Given the description of an element on the screen output the (x, y) to click on. 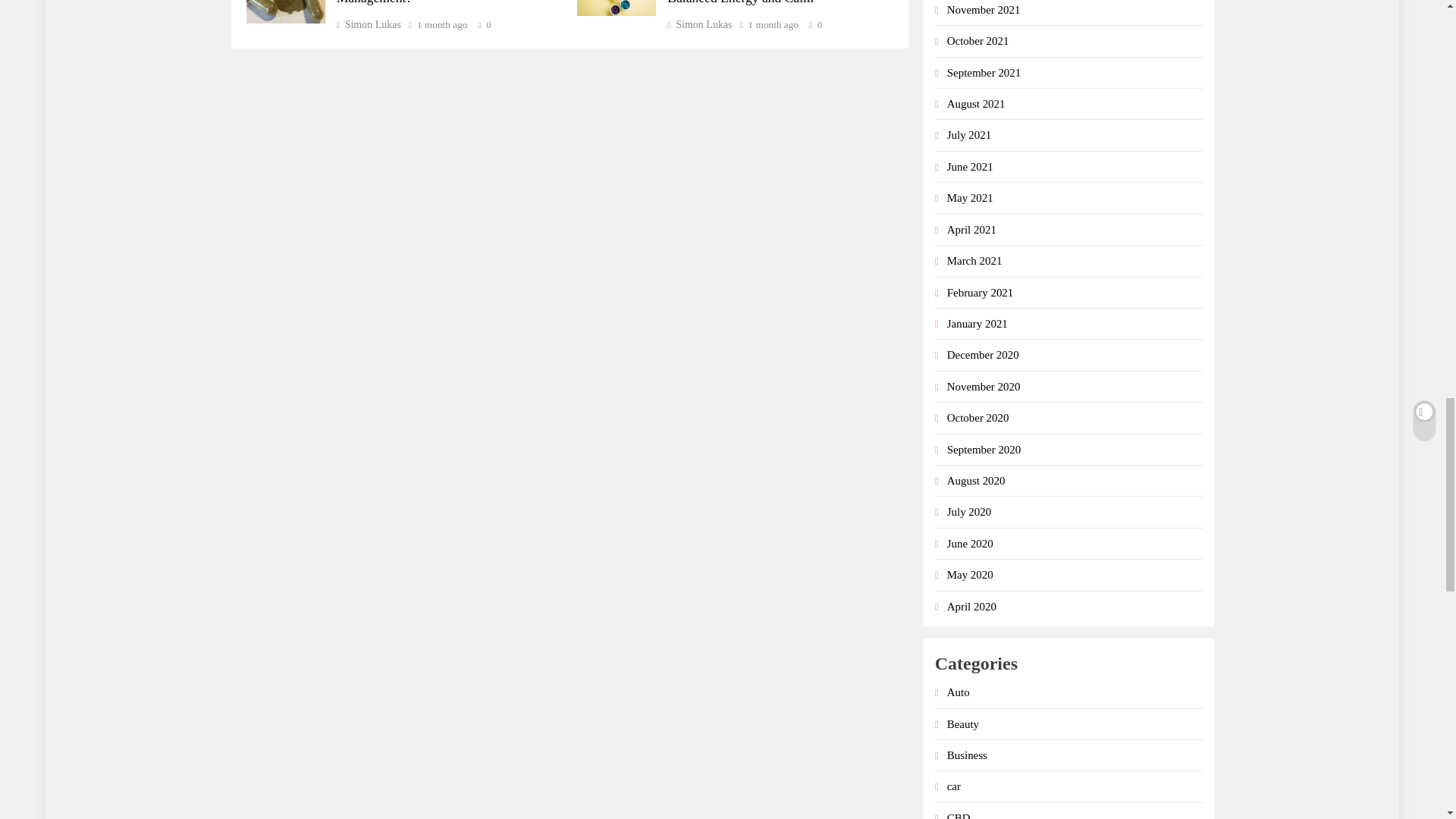
1 month ago (441, 24)
Simon Lukas (368, 24)
1 month ago (772, 24)
Can Kratom Capsules Help with Pain Management? (436, 2)
Simon Lukas (699, 24)
